Given the description of an element on the screen output the (x, y) to click on. 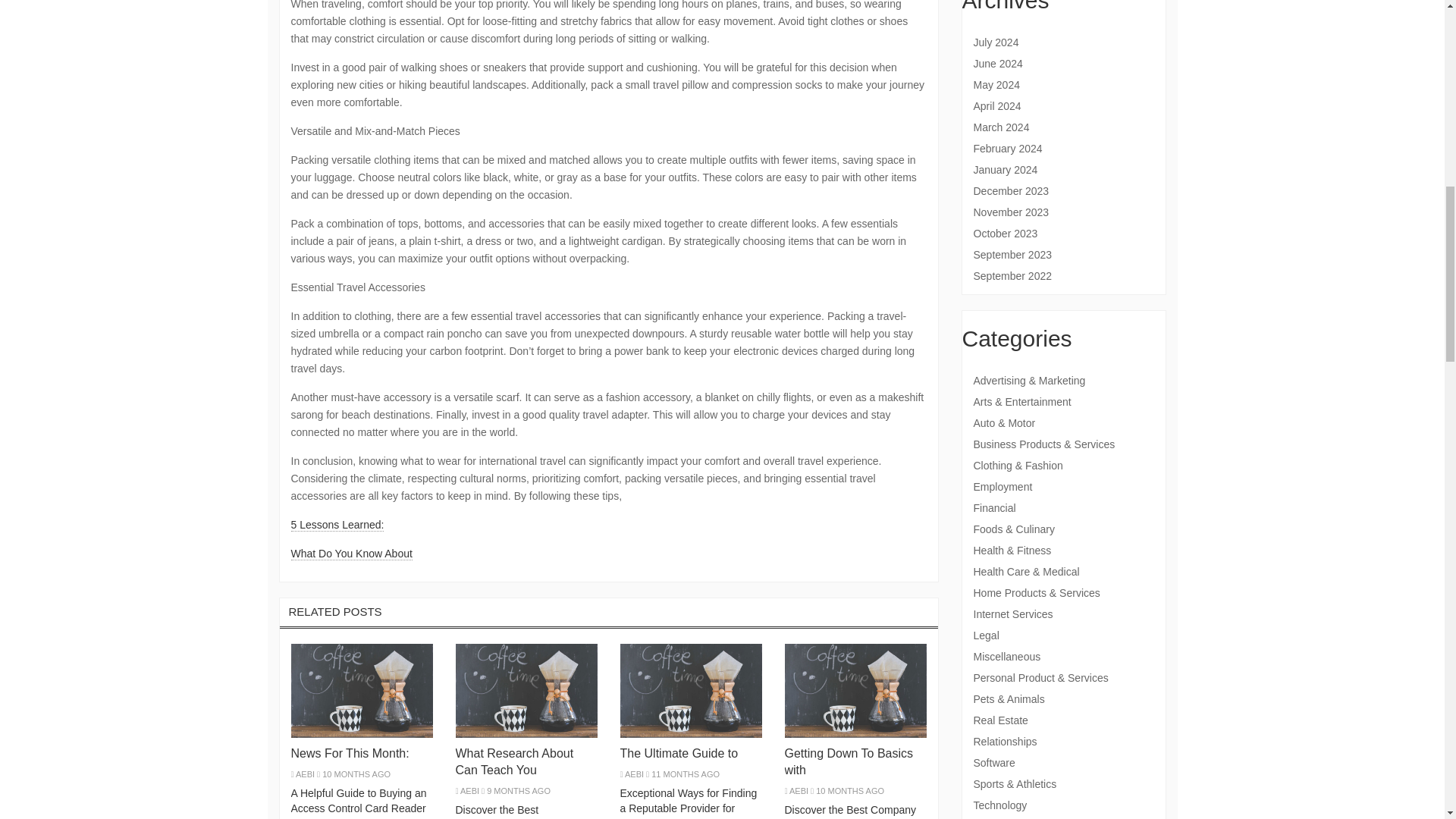
Getting Down To Basics with (848, 761)
News For This Month: (350, 753)
What Research About Can Teach You (513, 761)
The Ultimate Guide to (679, 753)
5 Lessons Learned: (337, 524)
What Do You Know About (351, 553)
